Given the description of an element on the screen output the (x, y) to click on. 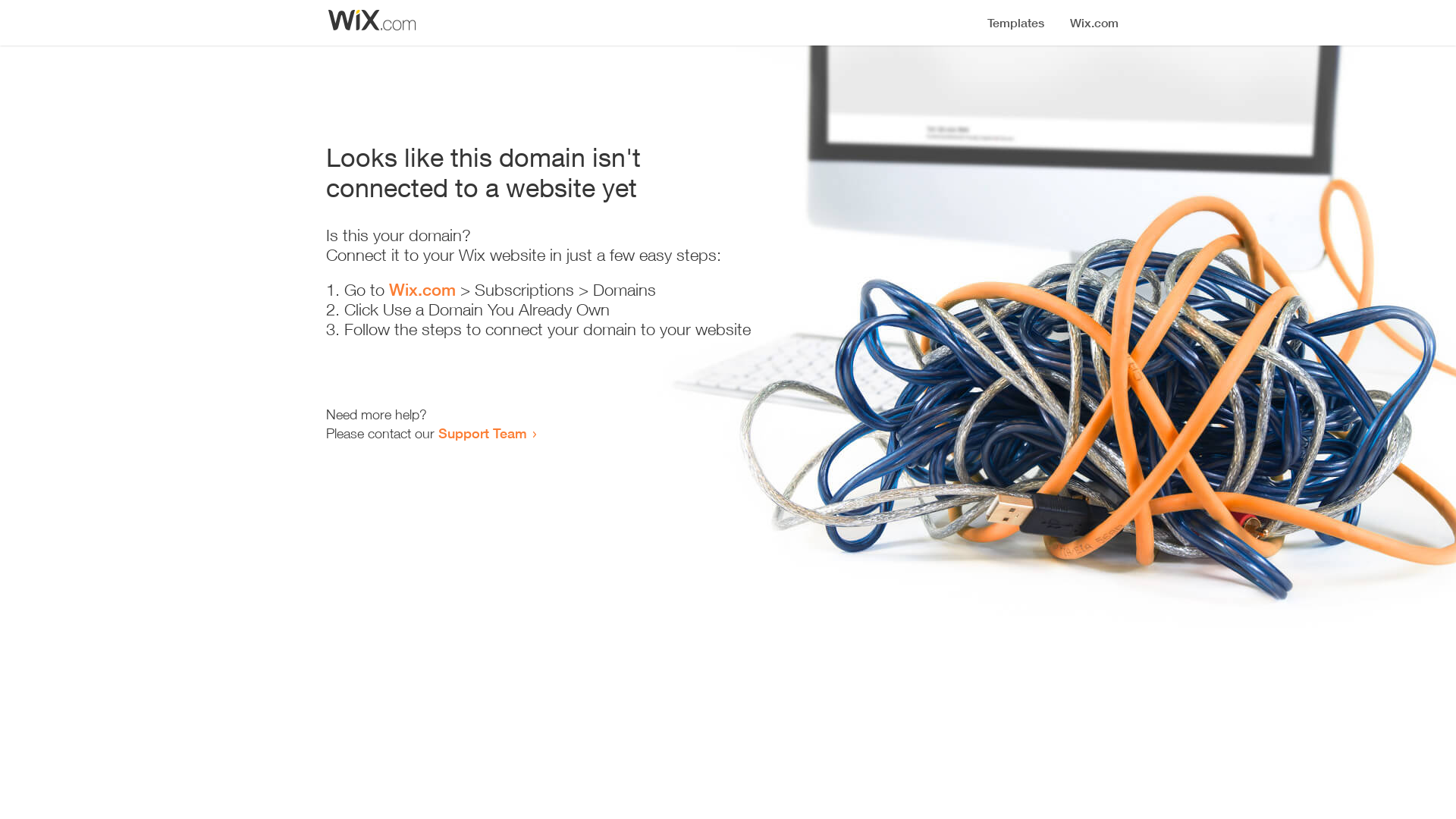
Support Team Element type: text (482, 432)
Wix.com Element type: text (422, 289)
